Given the description of an element on the screen output the (x, y) to click on. 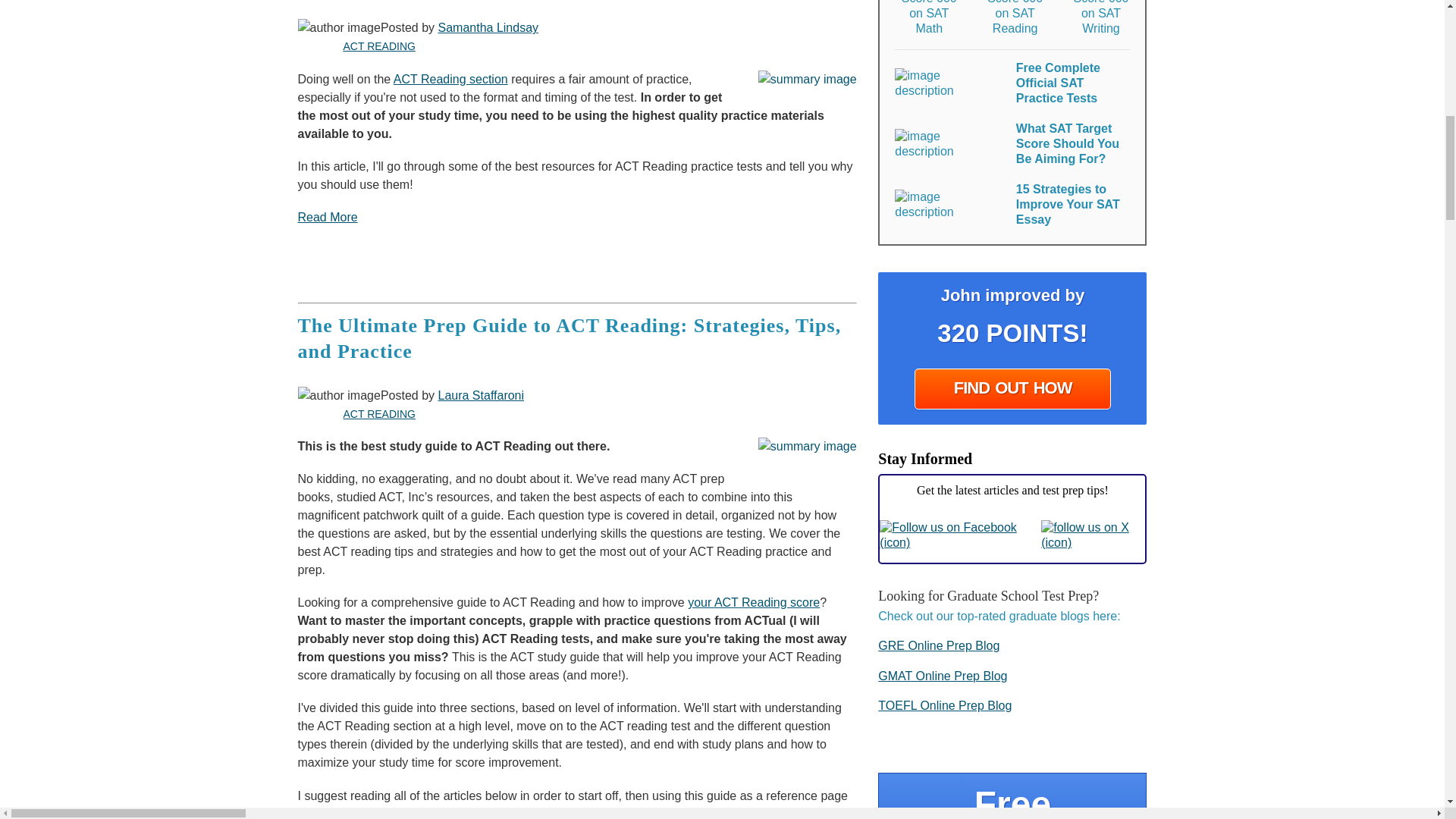
ACT READING (378, 413)
your ACT Reading score (753, 602)
Samantha Lindsay (488, 27)
Laura Staffaroni (481, 395)
ACT Reading section (450, 78)
Read More (326, 216)
ACT READING (378, 46)
